Given the description of an element on the screen output the (x, y) to click on. 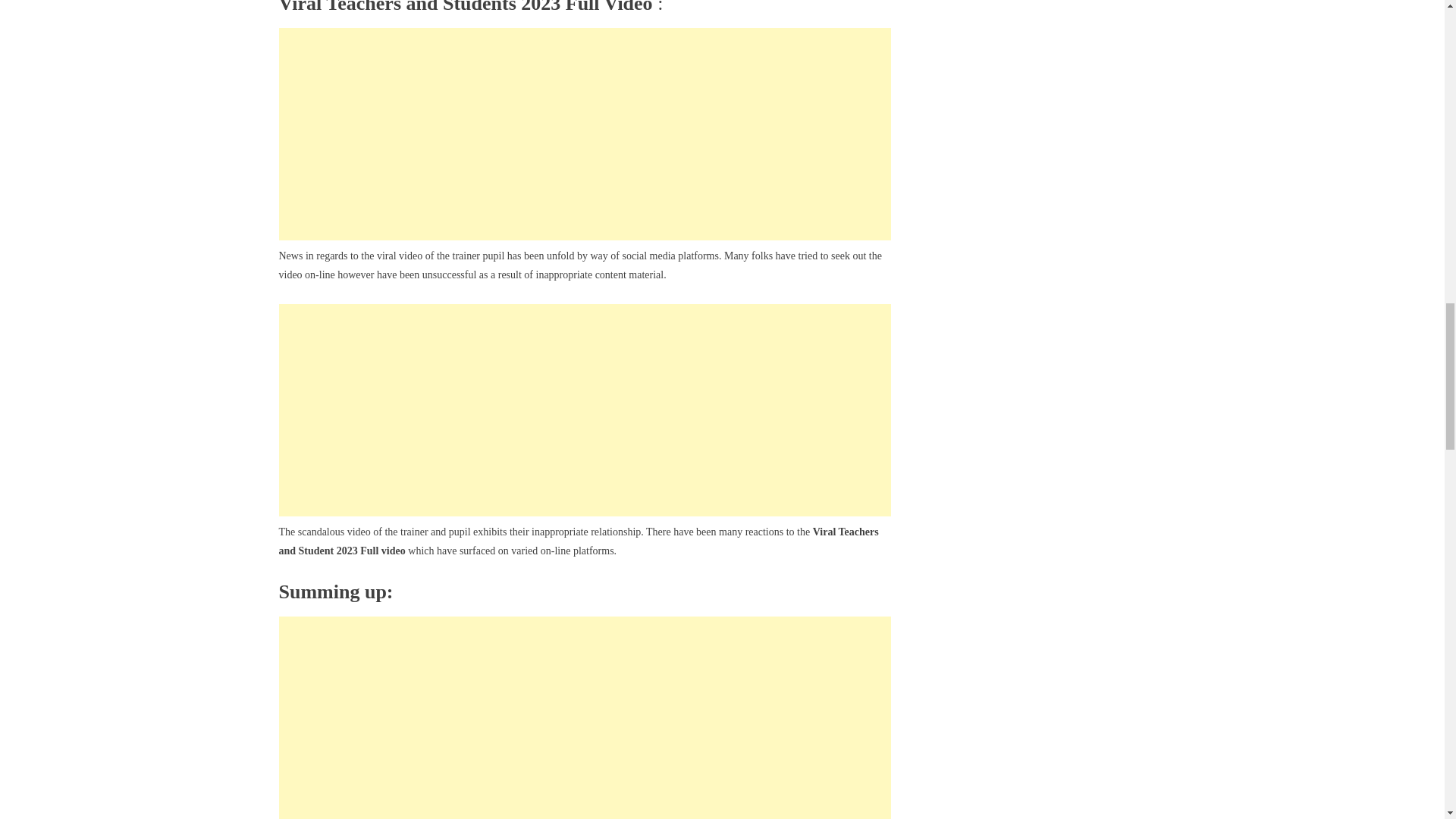
Advertisement (585, 717)
Advertisement (585, 409)
Advertisement (585, 133)
